Given the description of an element on the screen output the (x, y) to click on. 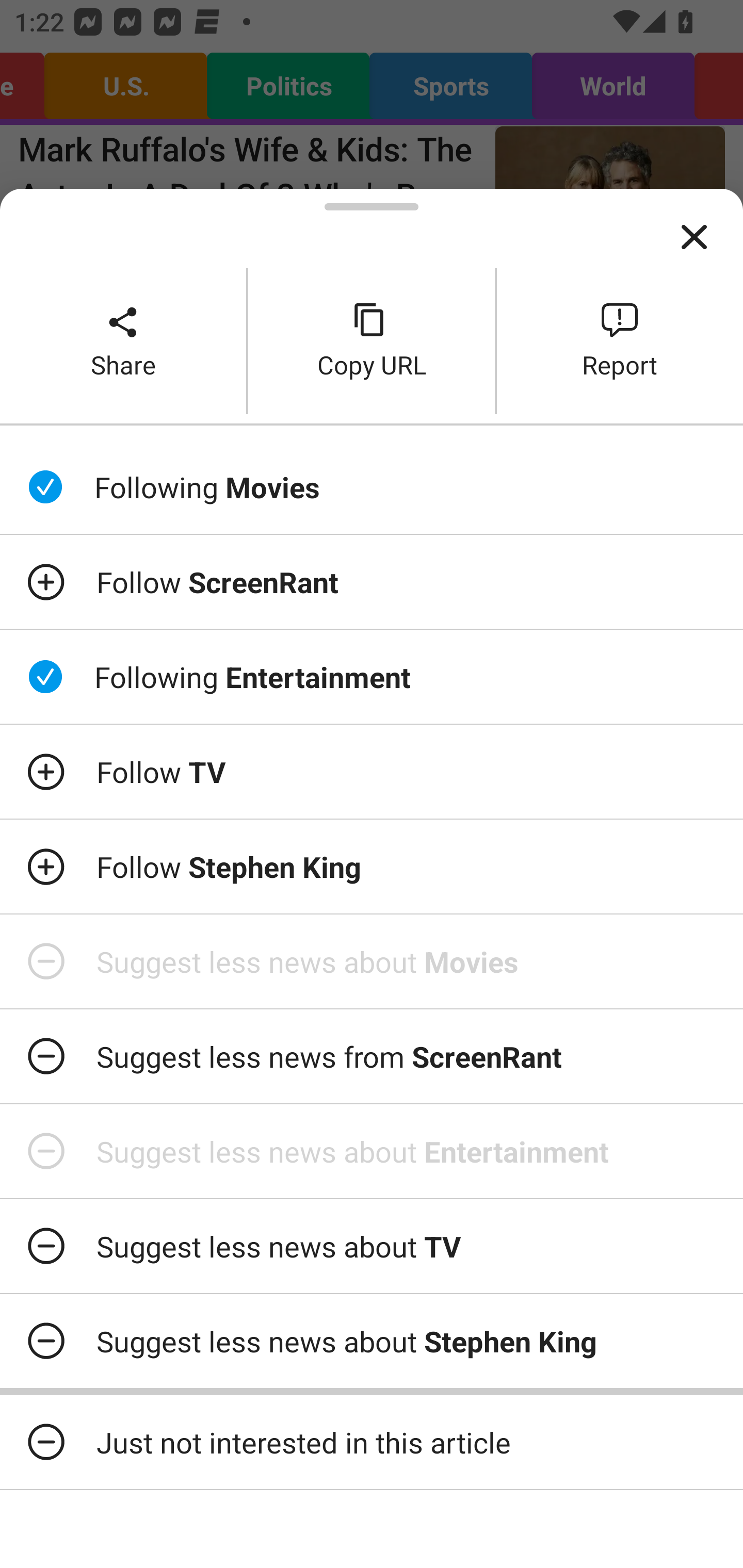
Close (694, 237)
Share (122, 340)
Copy URL (371, 340)
Report (620, 340)
Following Movies (371, 486)
Follow ScreenRant (371, 581)
Following Entertainment (371, 677)
Follow TV (371, 771)
Follow Stephen King (371, 867)
Suggest less news from ScreenRant (371, 1056)
Suggest less news about TV (371, 1246)
Suggest less news about Stephen King (371, 1340)
Just not interested in this article (371, 1442)
